Given the description of an element on the screen output the (x, y) to click on. 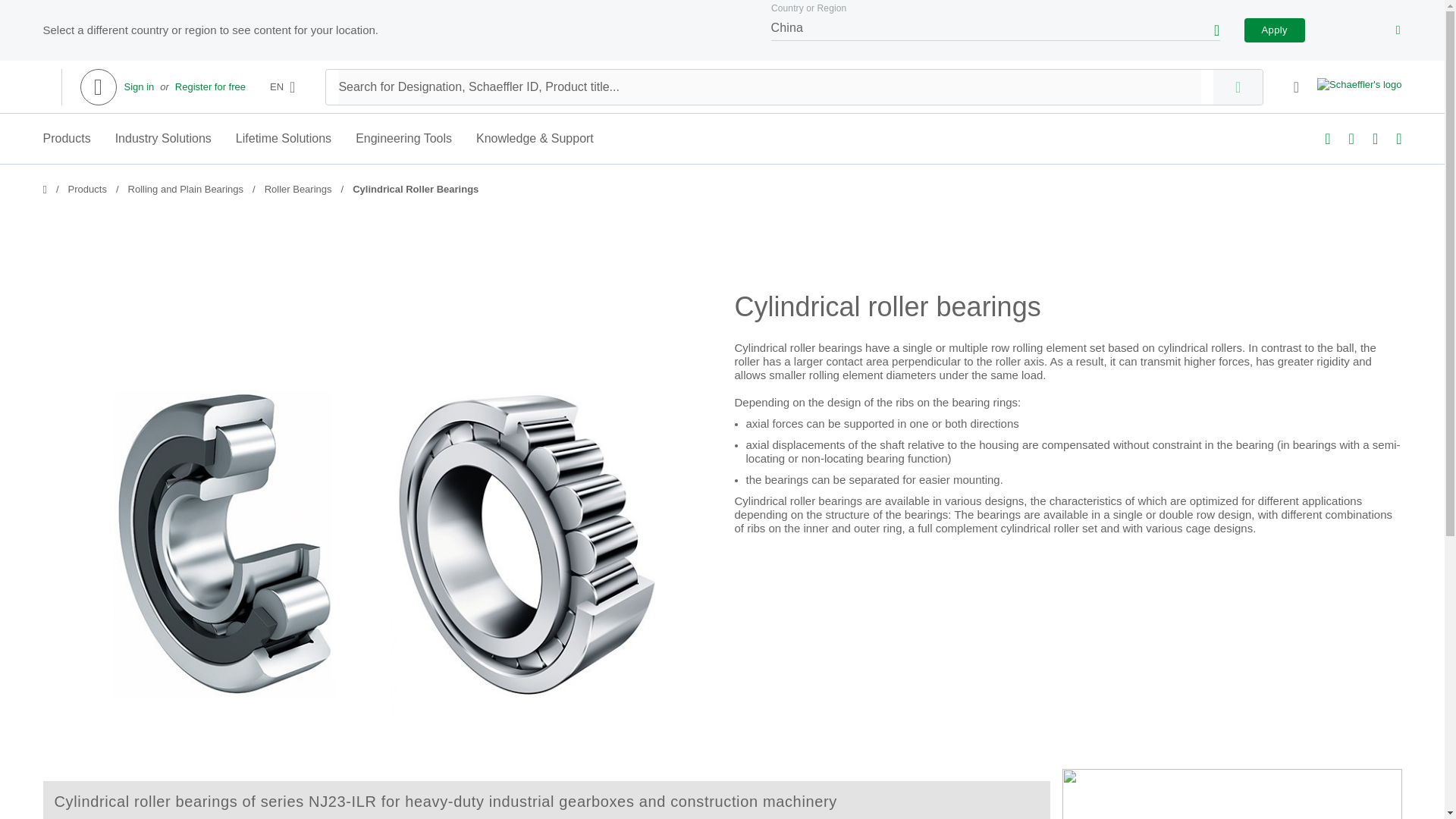
Rolling and Plain Bearings (185, 189)
Products (87, 189)
Roller Bearings (297, 189)
EN (282, 86)
Apply (1273, 30)
Register for free (210, 87)
Sign in (138, 87)
